Given the description of an element on the screen output the (x, y) to click on. 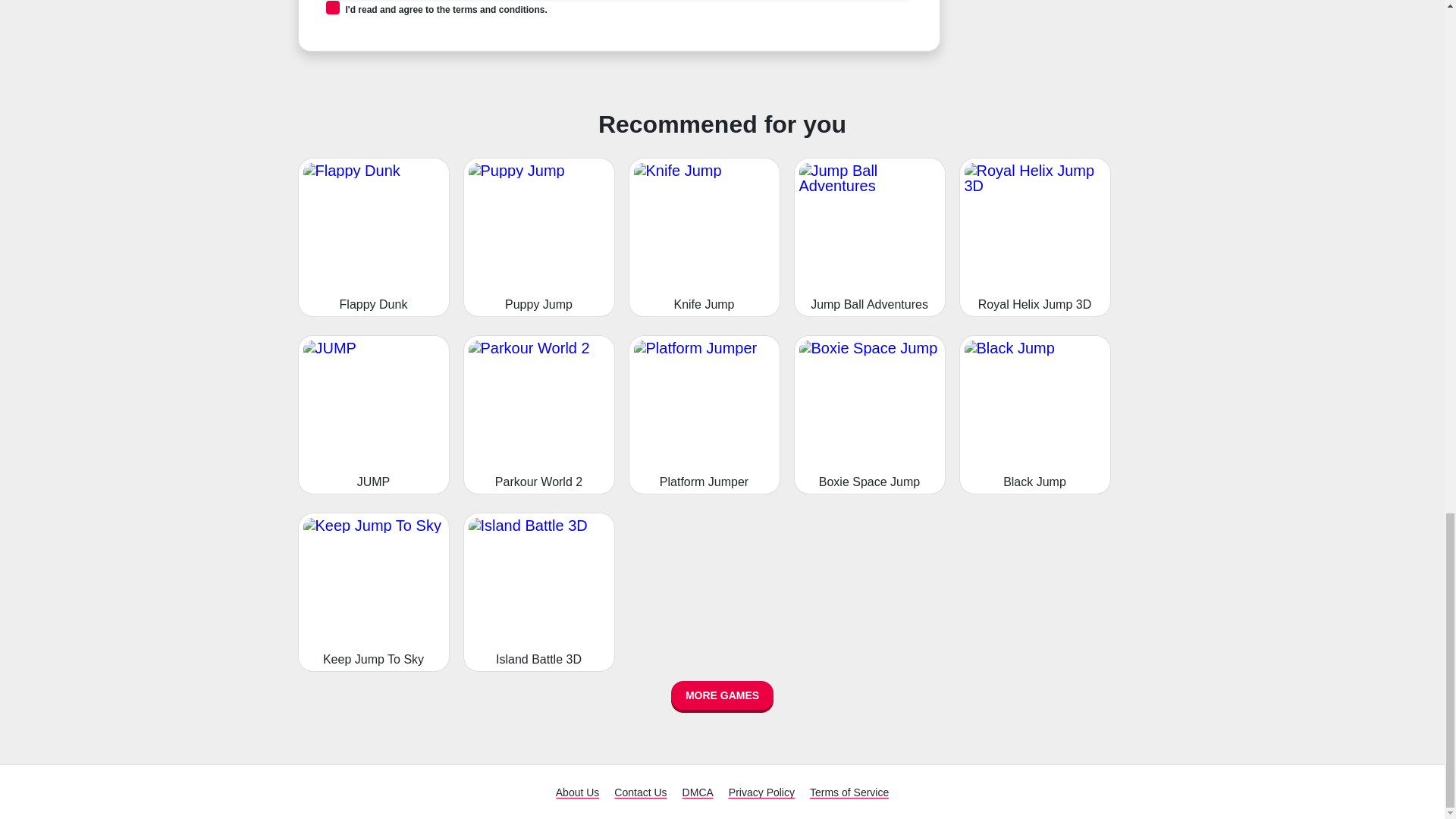
Knife Jump (702, 237)
Jump Ball Adventures (868, 237)
JUMP (372, 414)
JUMP (372, 414)
Royal Helix Jump 3D (1033, 237)
Puppy Jump (538, 237)
Boxie Space Jump (868, 414)
Puppy Jump (538, 237)
Parkour World 2 (538, 414)
Jump Ball Adventures (868, 237)
